Given the description of an element on the screen output the (x, y) to click on. 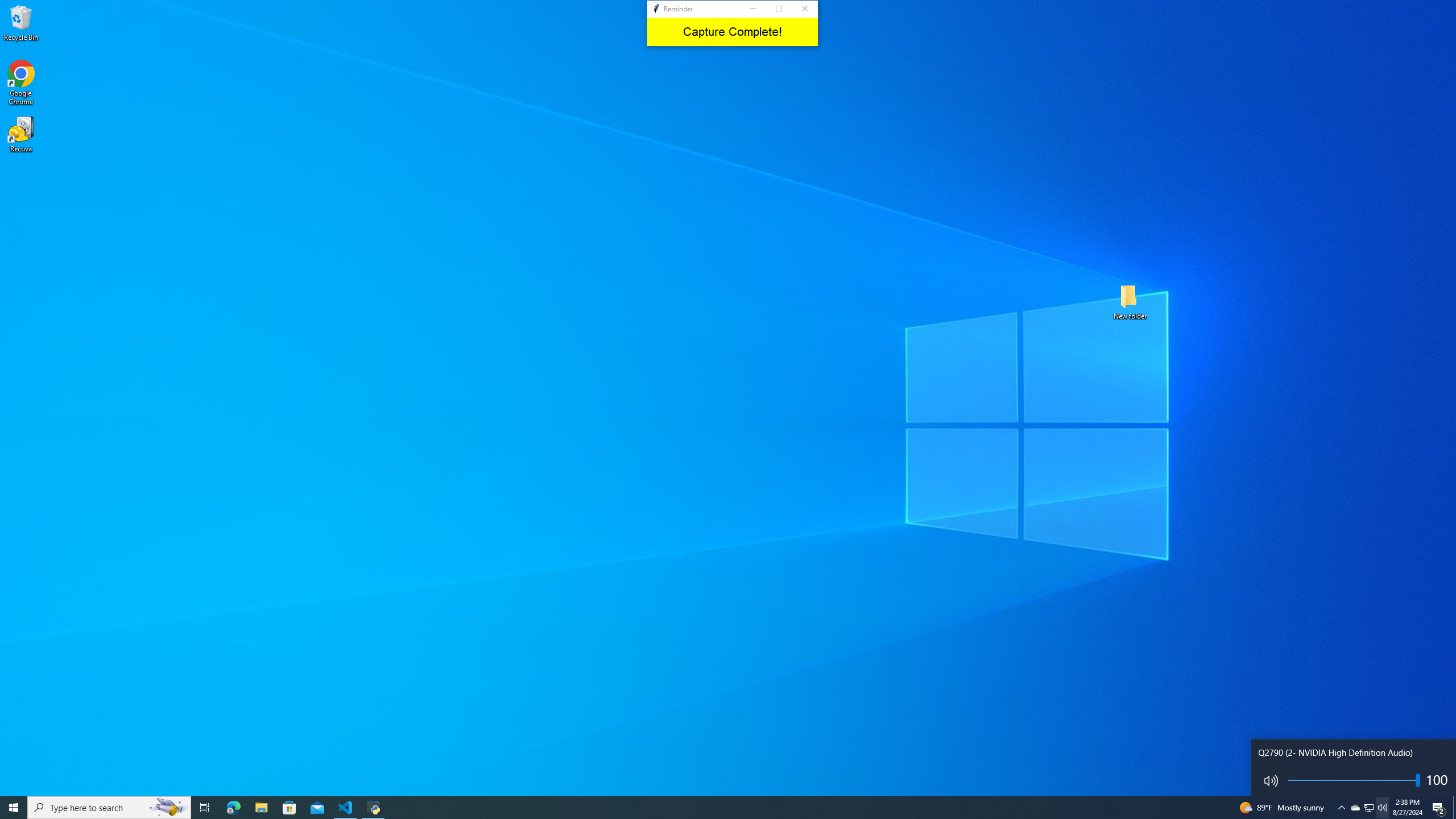
Mute toggle (1268, 780)
Action Center, 2 new notifications (1439, 807)
Running applications (717, 807)
